Given the description of an element on the screen output the (x, y) to click on. 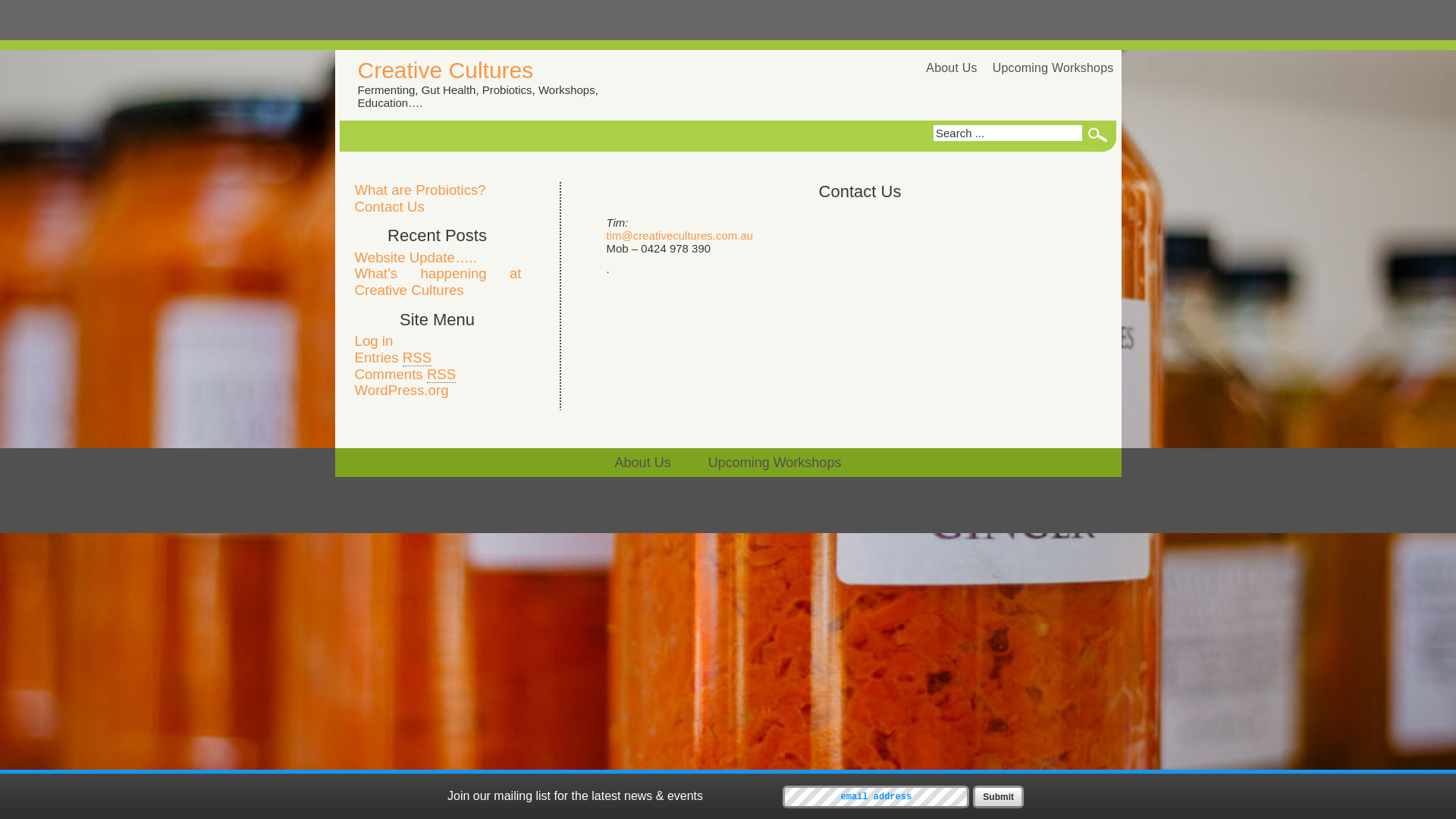
Contact Us Element type: text (389, 206)
Log in Element type: text (373, 340)
Upcoming Workshops Element type: text (774, 462)
tim@creativecultures.com.au Element type: text (679, 235)
About Us Element type: text (643, 462)
Creative Cultures Element type: text (445, 69)
What are Probiotics? Element type: text (420, 189)
About Us Element type: text (951, 68)
Upcoming Workshops Element type: text (1052, 68)
WordPress.org Element type: text (401, 390)
Comments RSS Element type: text (405, 374)
Submit Element type: text (997, 796)
Entries RSS Element type: text (393, 357)
